Given the description of an element on the screen output the (x, y) to click on. 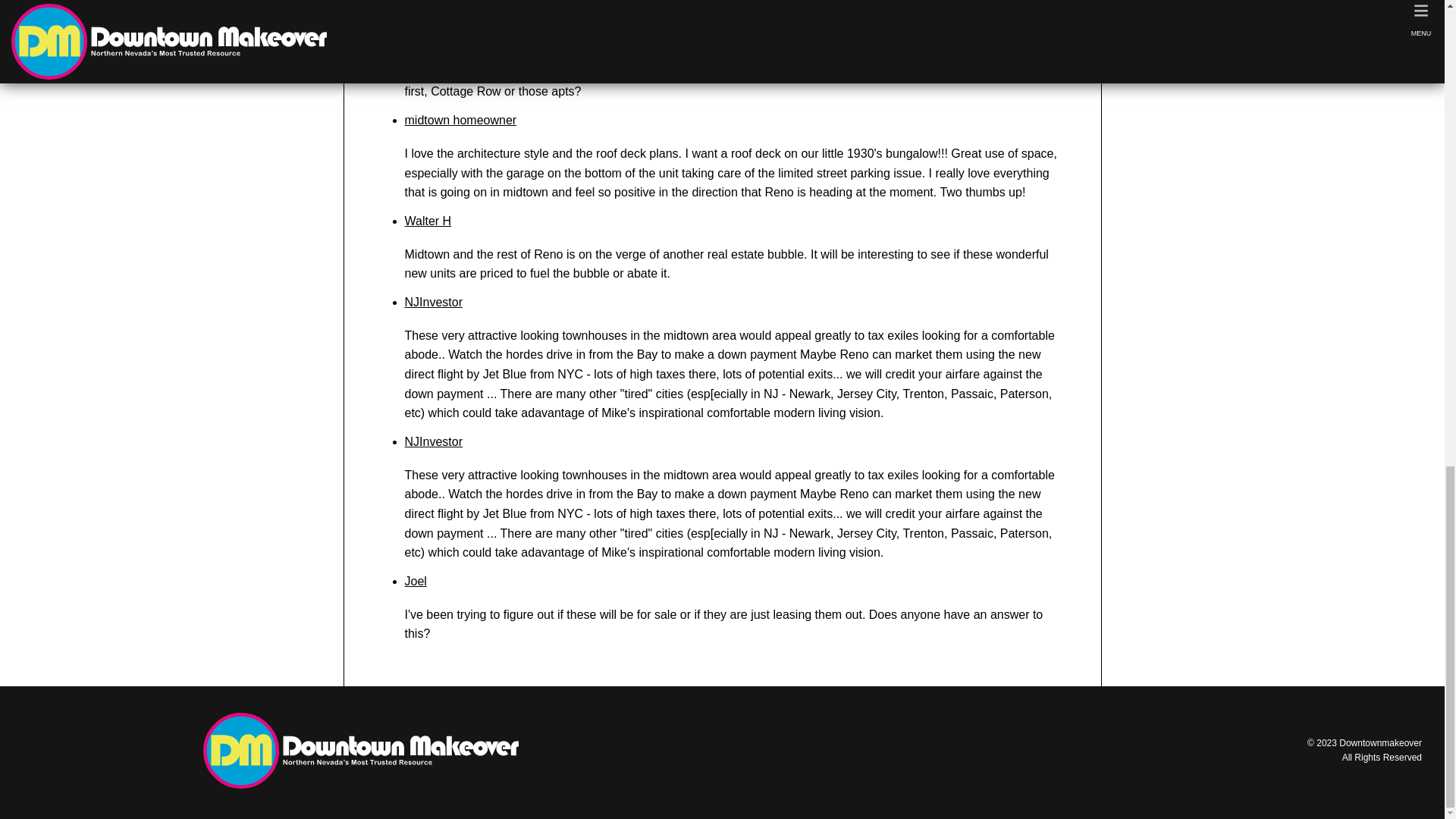
midtown homeowner (460, 119)
Walter H (427, 220)
NJInvestor (433, 301)
NJInvestor (433, 440)
Joel (415, 581)
